Given the description of an element on the screen output the (x, y) to click on. 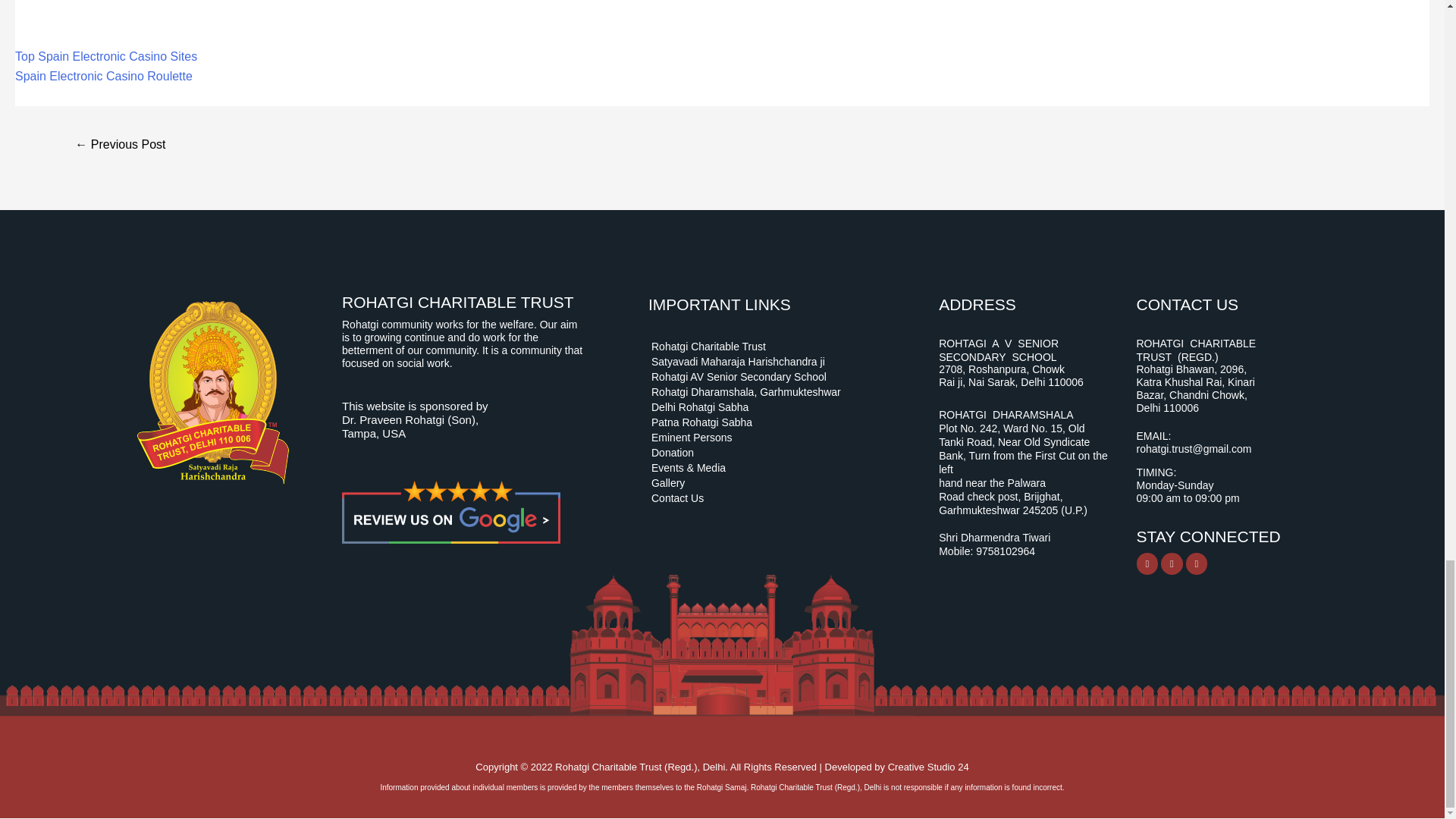
Hello world! (119, 145)
